Given the description of an element on the screen output the (x, y) to click on. 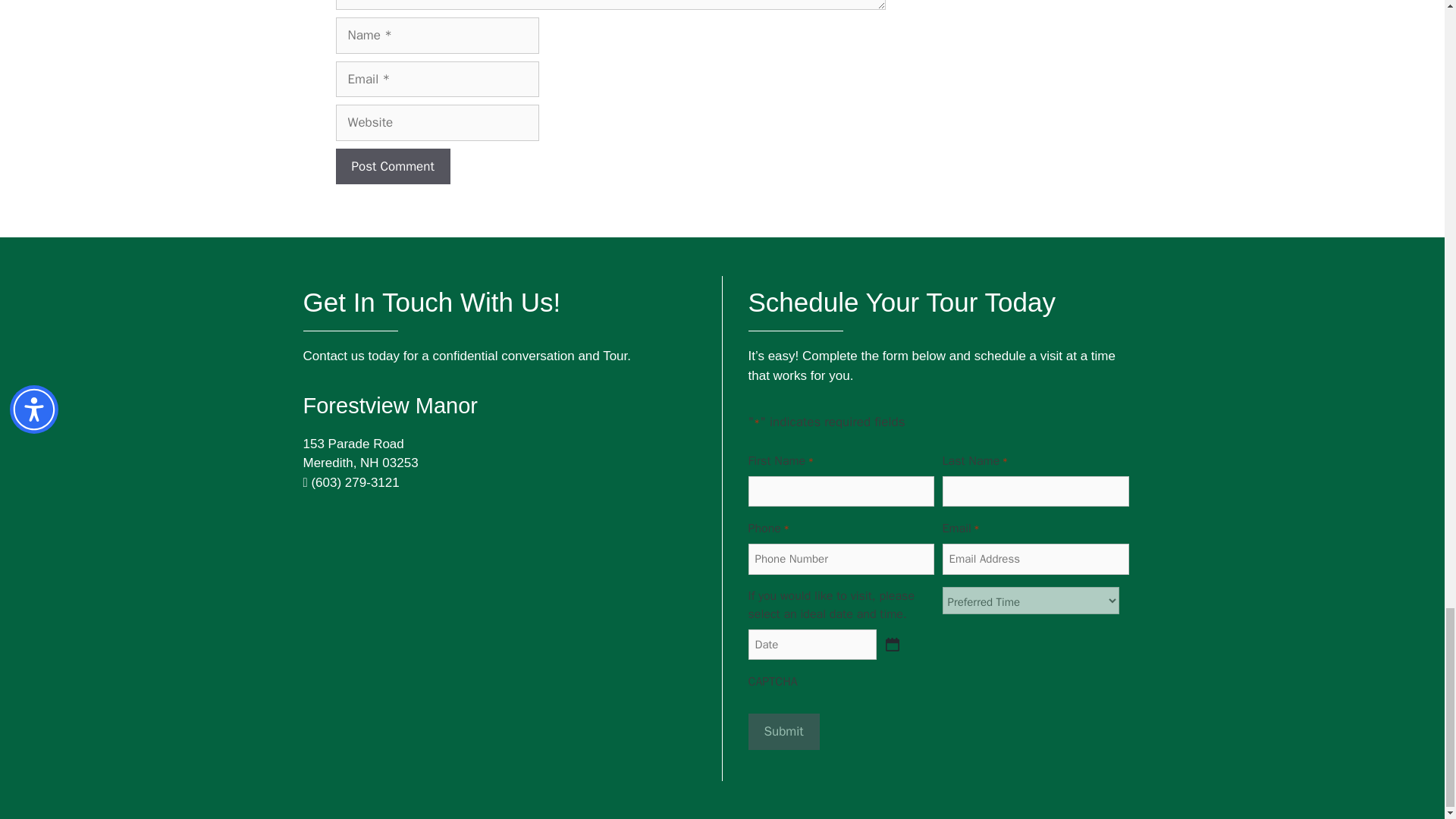
Post Comment (391, 166)
Submit (783, 731)
Forestview Manor, 153 Parade Road Meredith, NH 03253 (492, 614)
Select date (892, 644)
Post Comment (391, 166)
